Given the description of an element on the screen output the (x, y) to click on. 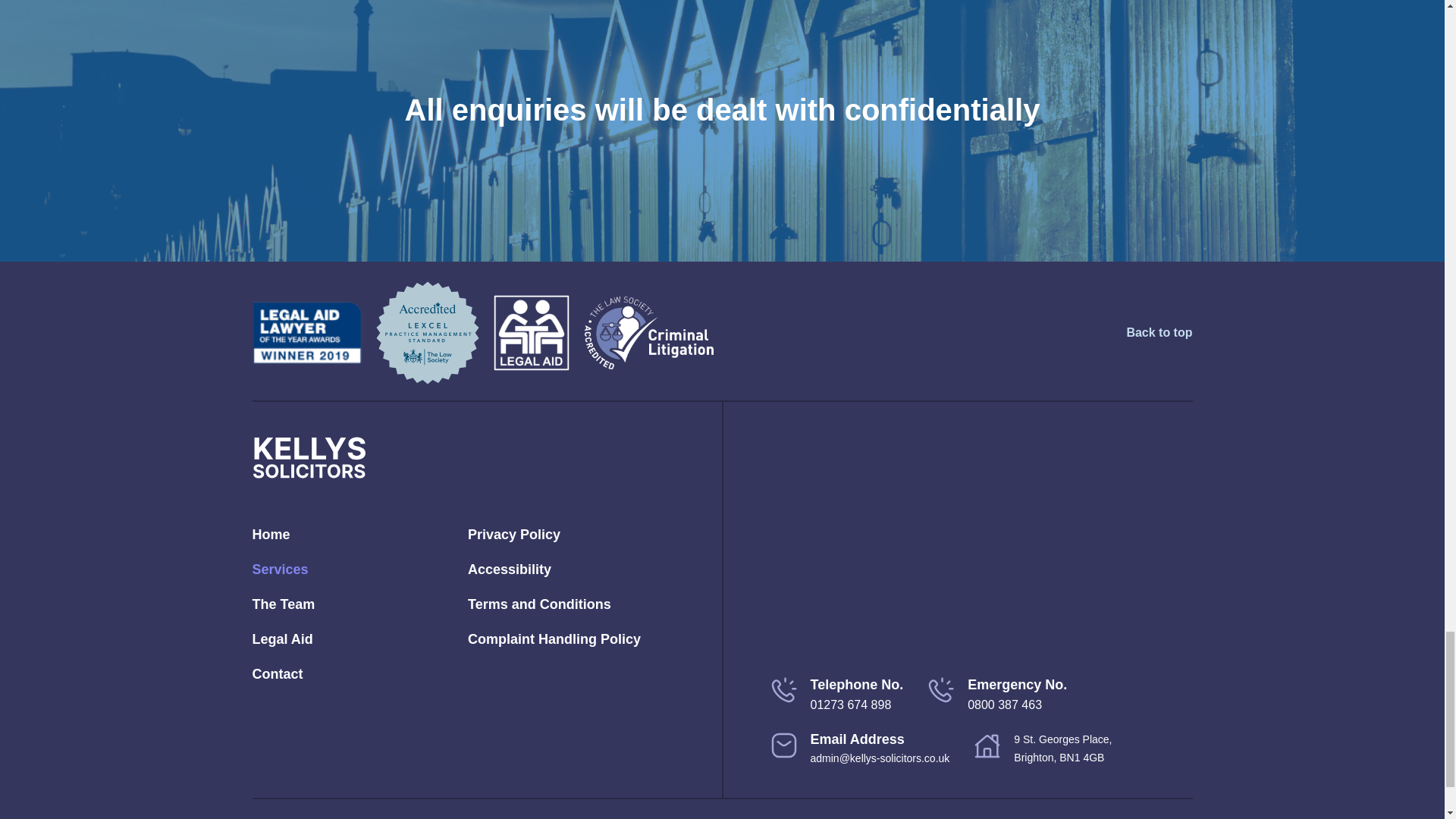
Services (355, 569)
Kellys Solicitors, 9 St. Georges Place, Brighton, BN1 4GB (980, 546)
Back to top (1158, 332)
Home (355, 533)
